Given the description of an element on the screen output the (x, y) to click on. 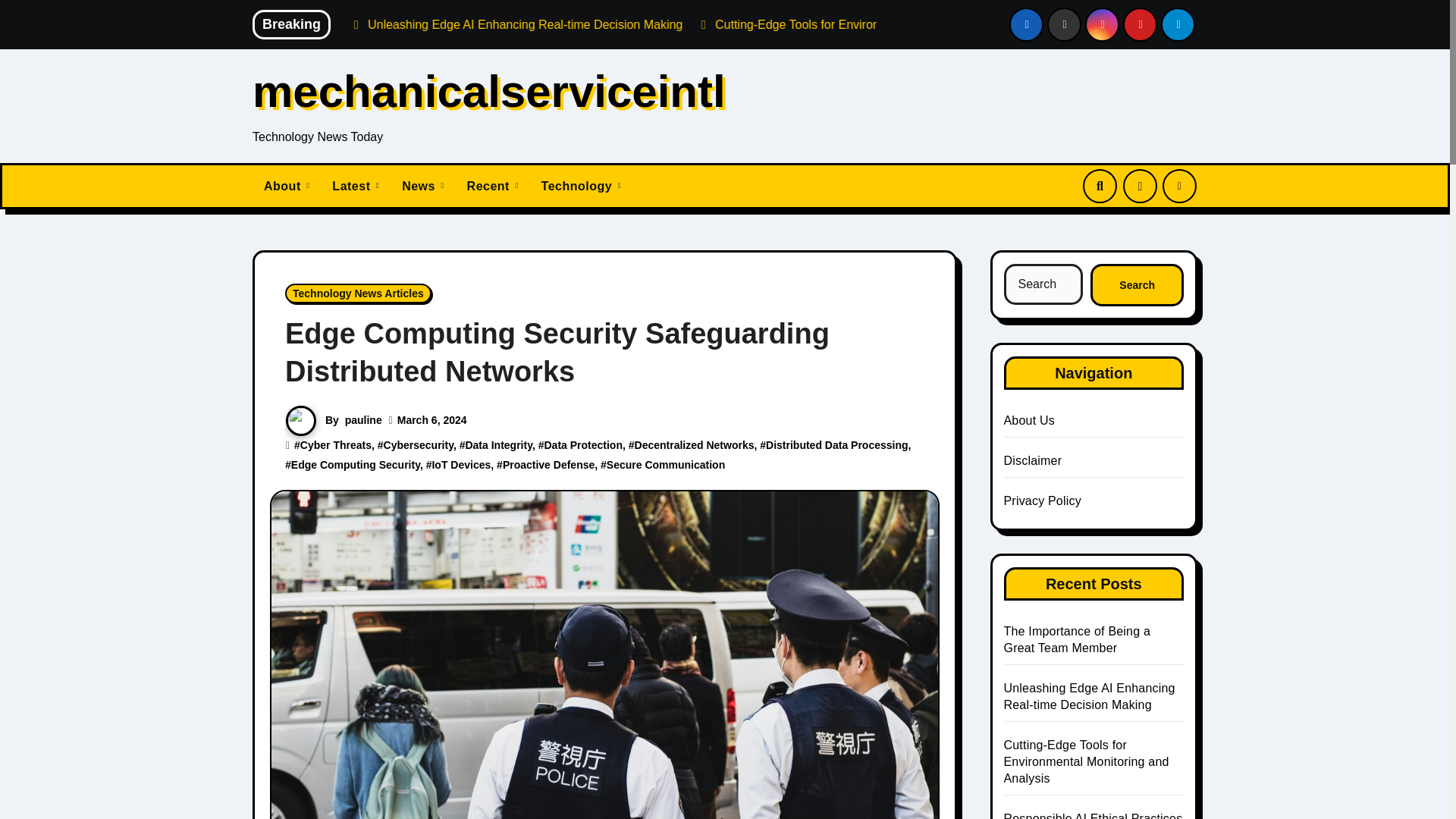
News (422, 187)
The Importance of Being a Great Team Member (392, 24)
mechanicalserviceintl (488, 91)
Search (1136, 284)
Latest (355, 187)
About (285, 187)
About (285, 187)
News (422, 187)
Latest (355, 187)
Unleashing Edge AI Enhancing Real-time Decision Making (708, 24)
Recent (492, 187)
Search (1136, 284)
